Given the description of an element on the screen output the (x, y) to click on. 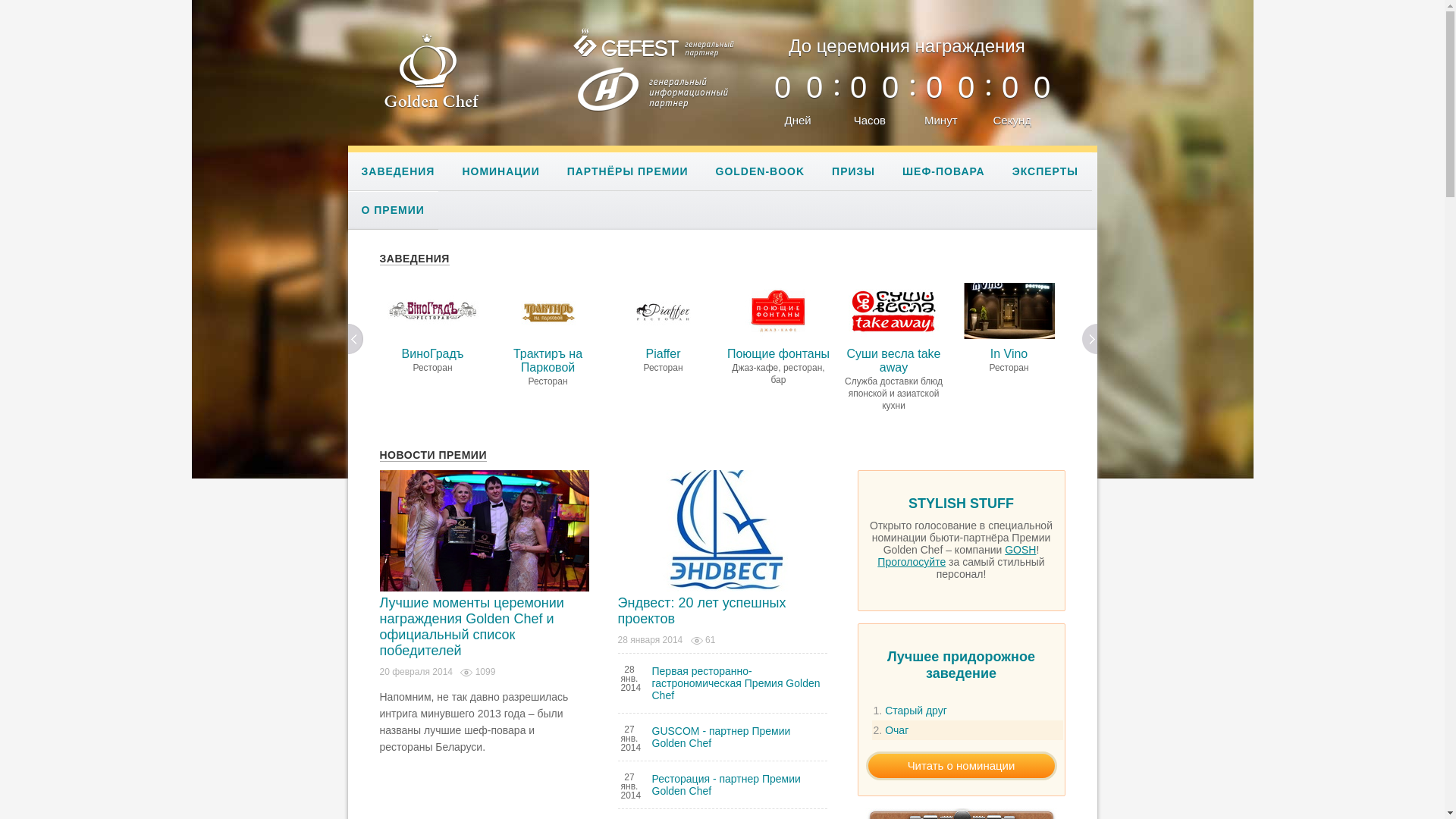
GOSH Element type: text (1019, 549)
In Vino Element type: hover (1008, 310)
GOLDEN-BOOK Element type: text (760, 171)
Next Element type: text (1090, 339)
Piaffer Element type: hover (662, 310)
STYLISH STUFF Element type: text (960, 506)
Prev Element type: text (356, 339)
